Given the description of an element on the screen output the (x, y) to click on. 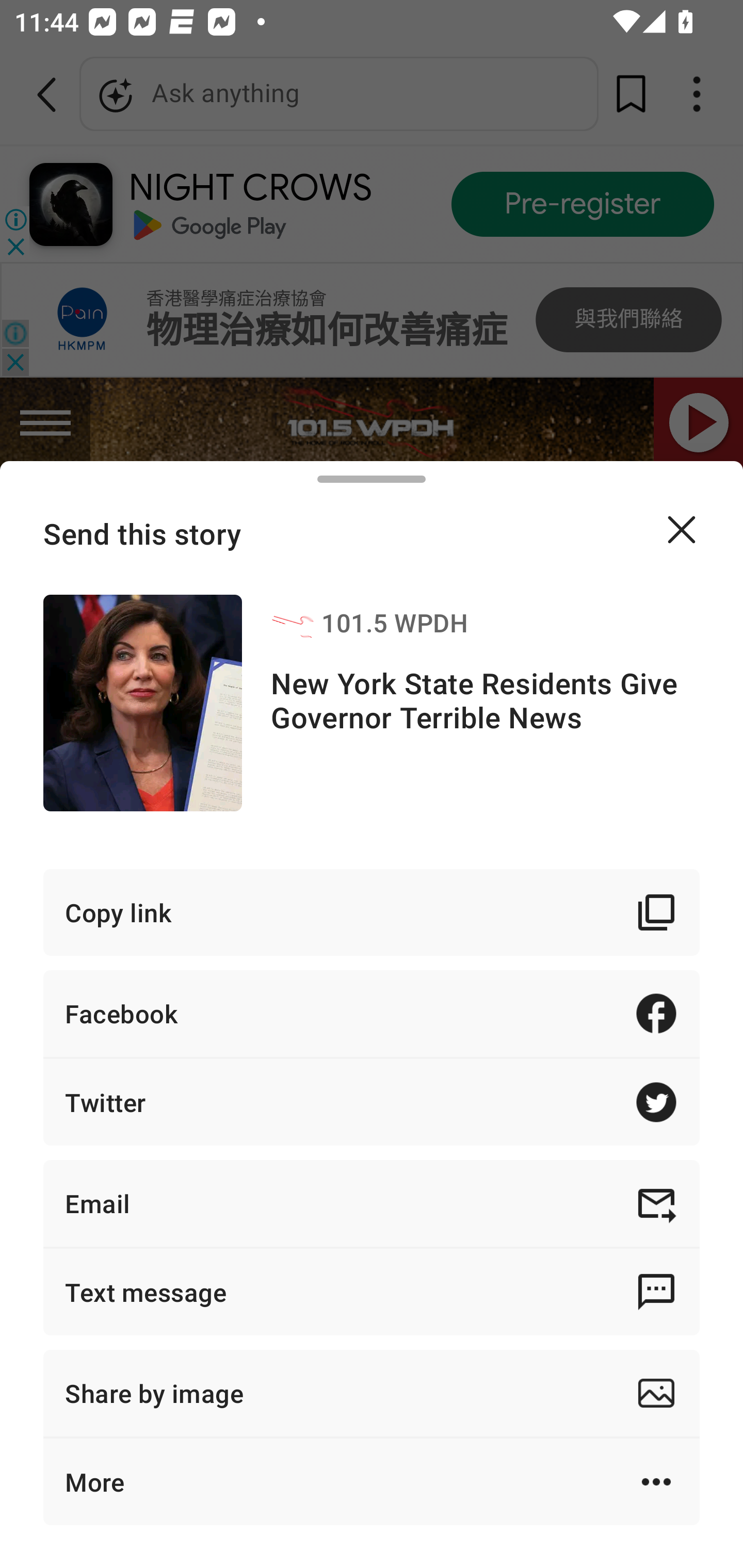
Copy link (371, 912)
Facebook (371, 1013)
Twitter (371, 1102)
Email (371, 1203)
Text message (371, 1291)
Share by image (371, 1393)
More (371, 1481)
